Given the description of an element on the screen output the (x, y) to click on. 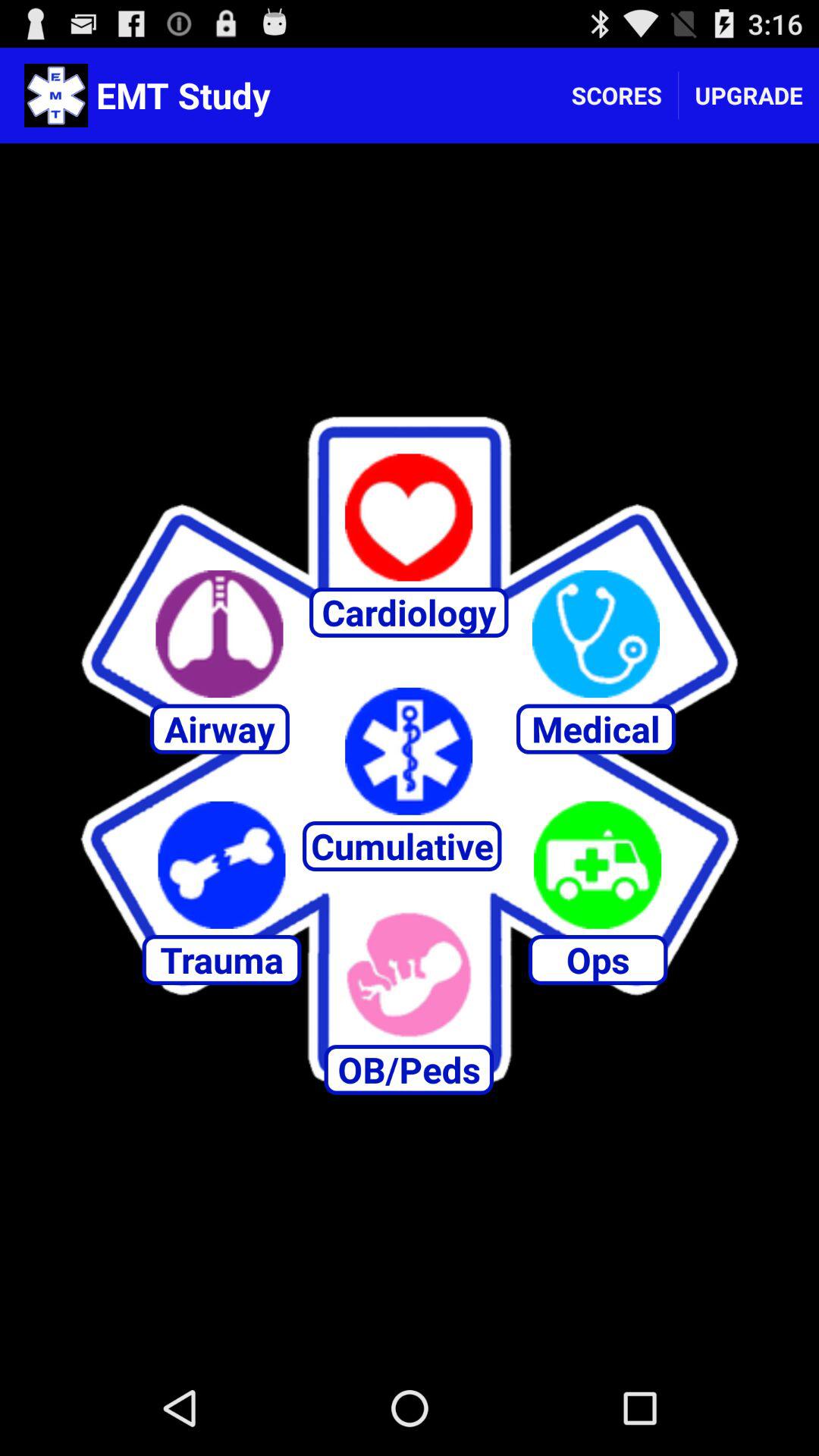
to favourite (408, 517)
